Given the description of an element on the screen output the (x, y) to click on. 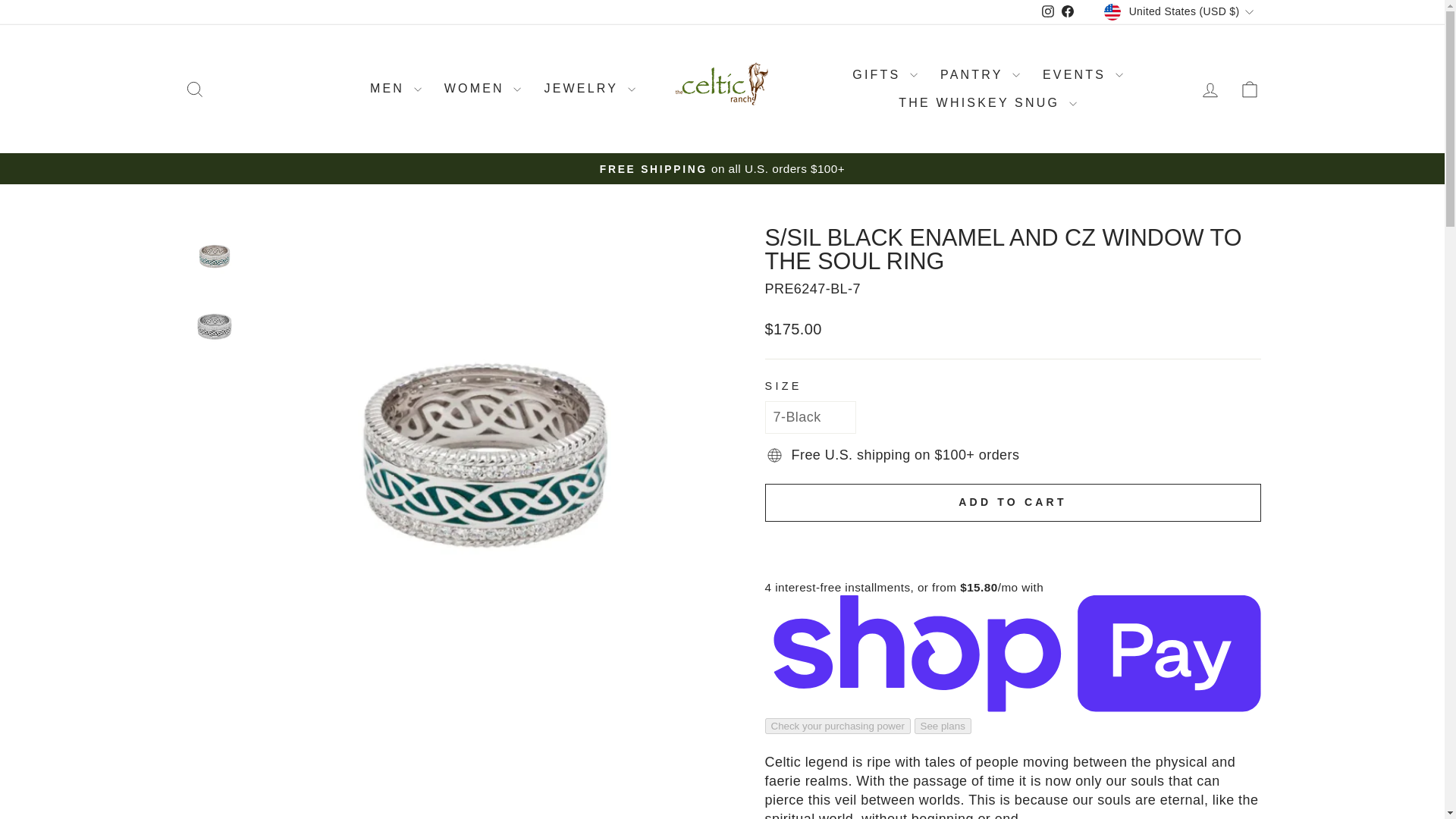
ICON-BAG-MINIMAL (1249, 88)
instagram (1048, 10)
ACCOUNT (1210, 89)
The Celtic Ranch on Instagram (1048, 11)
ICON-SEARCH (194, 88)
The Celtic Ranch on Facebook (1067, 11)
